Given the description of an element on the screen output the (x, y) to click on. 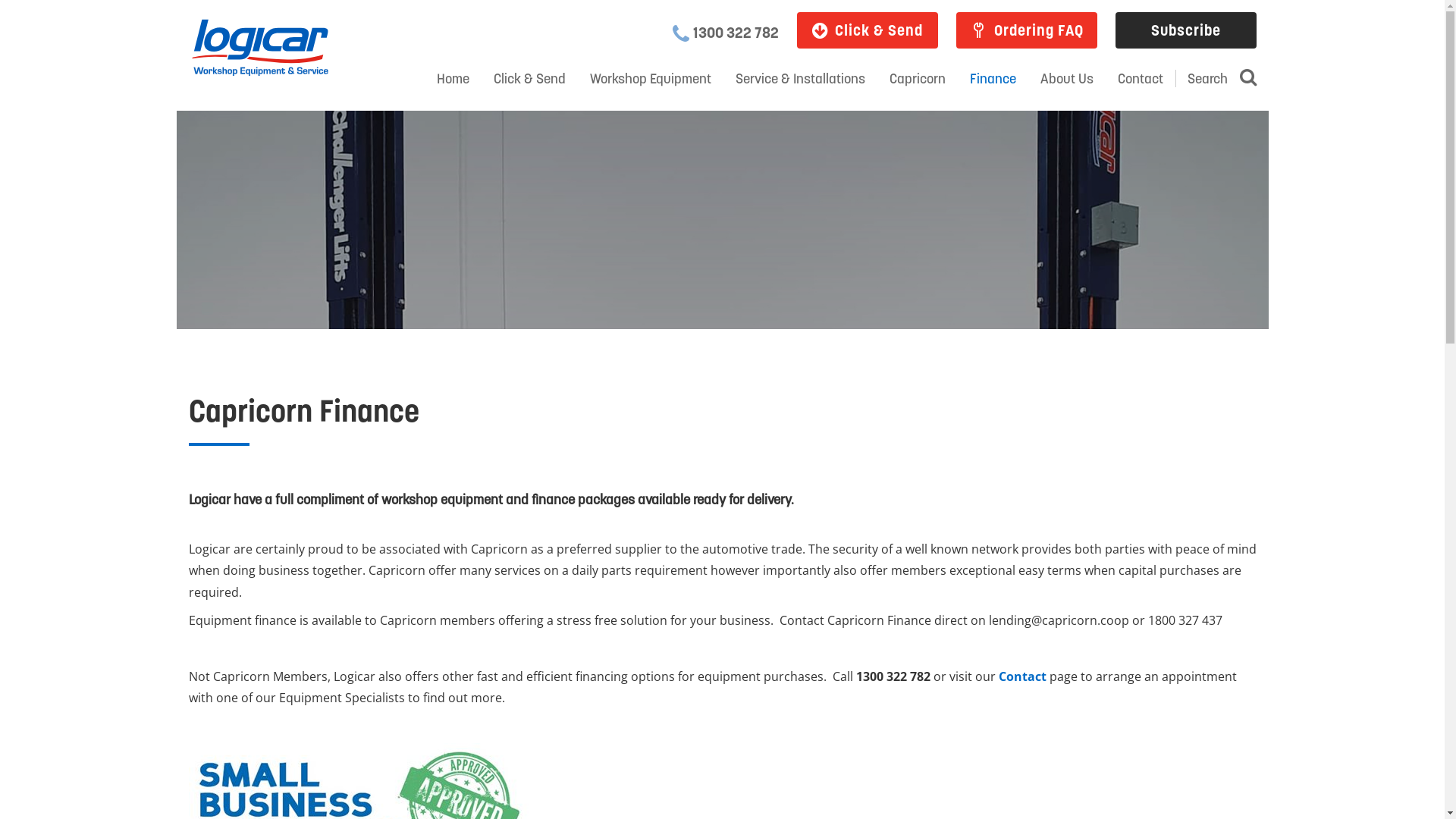
1300 322 782 Element type: text (727, 32)
Subscribe Element type: text (1184, 30)
Service & Installations Element type: text (800, 78)
Click & Send Element type: text (528, 78)
Click & Send Element type: text (866, 30)
Contact Element type: text (1140, 78)
Workshop Equipment Element type: text (650, 78)
Finance Element type: text (992, 78)
Logicar Element type: hover (259, 48)
Search Element type: text (1221, 78)
Contact Element type: text (1021, 676)
Capricorn Element type: text (916, 78)
About Us Element type: text (1066, 78)
Ordering FAQ Element type: text (1025, 30)
Home Element type: text (452, 78)
